Given the description of an element on the screen output the (x, y) to click on. 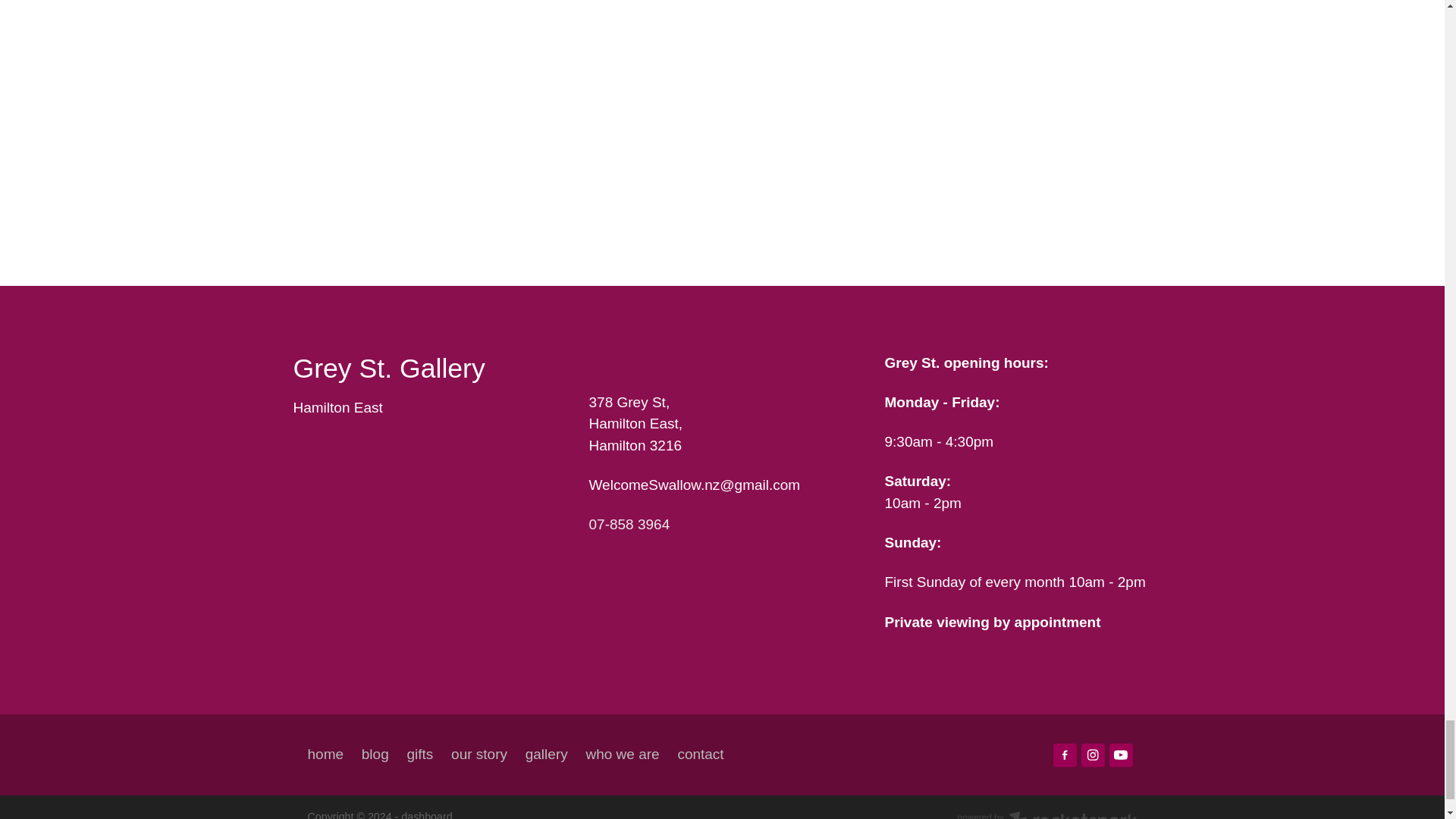
who we are (622, 754)
A link to this website's Instagram. (1093, 754)
dashboard (426, 814)
our story (479, 754)
A link to this website's Youtube. (1120, 754)
Call via Hangouts (628, 524)
A link to this website's Facebook. (1064, 754)
Rocketspark website builder (1046, 814)
07-858 3964 (628, 524)
